Given the description of an element on the screen output the (x, y) to click on. 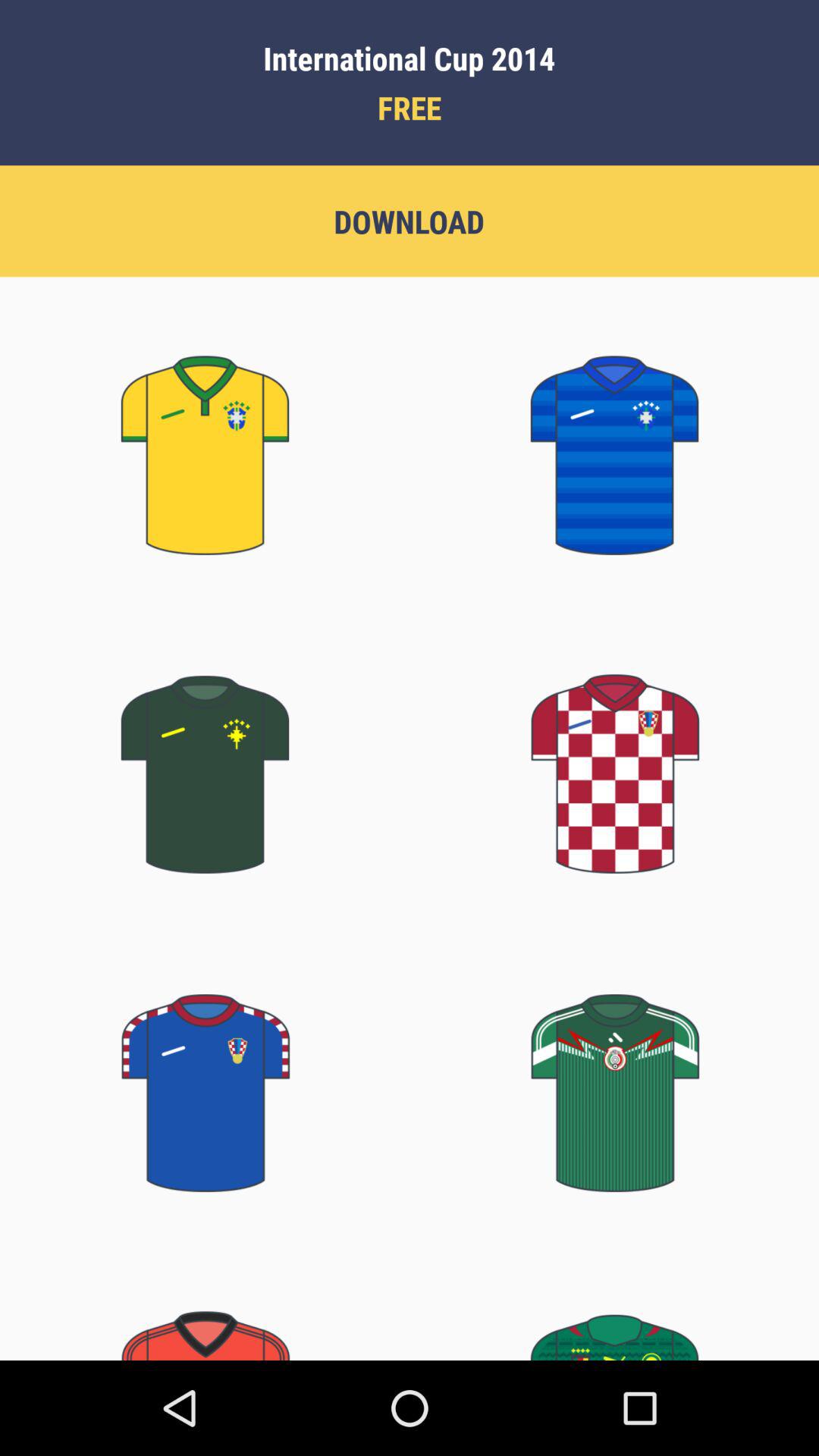
select green color t shirt which is on the bottom right corner of the page (614, 1315)
choose yellow color jersey (204, 436)
select the red tshirt image (614, 754)
